Given the description of an element on the screen output the (x, y) to click on. 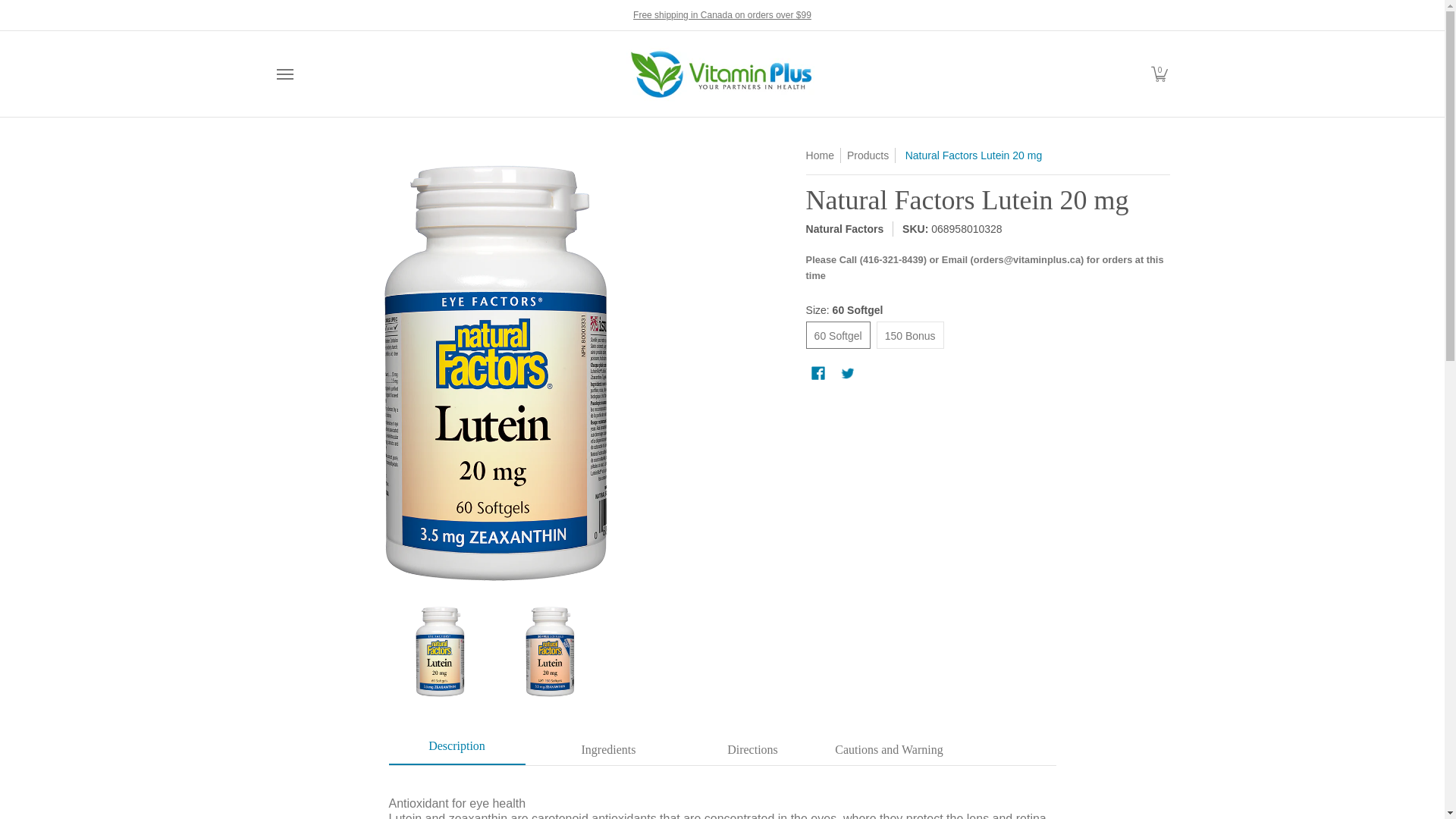
Ingredients (608, 750)
Products (867, 155)
Home (820, 155)
Cautions and Warning (888, 750)
60 Softgel (819, 334)
150 Bonus (890, 334)
Shipping Policy (721, 14)
Natural Factors (844, 228)
Description (456, 750)
Directions (752, 750)
Vitamin Plus (720, 73)
